Given the description of an element on the screen output the (x, y) to click on. 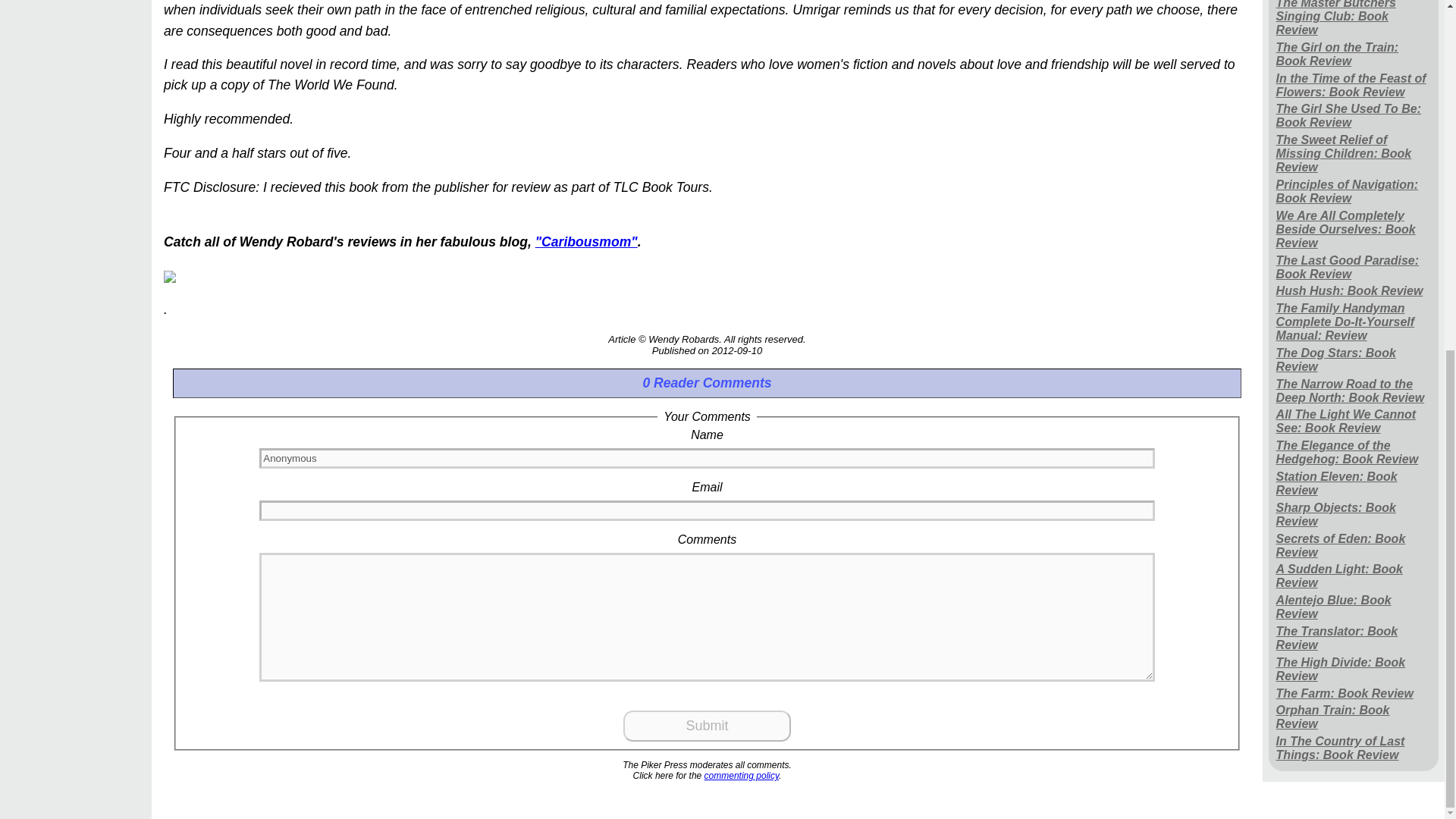
In the Time of the Feast of Flowers: Book Review (1353, 84)
The Sweet Relief of Missing Children: Book Review (1353, 153)
The Girl She Used To Be: Book Review (1353, 115)
The Last Good Paradise: Book Review (1353, 266)
"Caribousmom" (586, 241)
Submit (706, 726)
Anonymous (706, 457)
Principles of Navigation: Book Review (1353, 192)
Submit (706, 726)
commenting policy (741, 775)
We Are All Completely Beside Ourselves: Book Review (1353, 229)
The Master Butchers Singing Club: Book Review (1353, 19)
The Girl on the Train: Book Review (1353, 53)
